Given the description of an element on the screen output the (x, y) to click on. 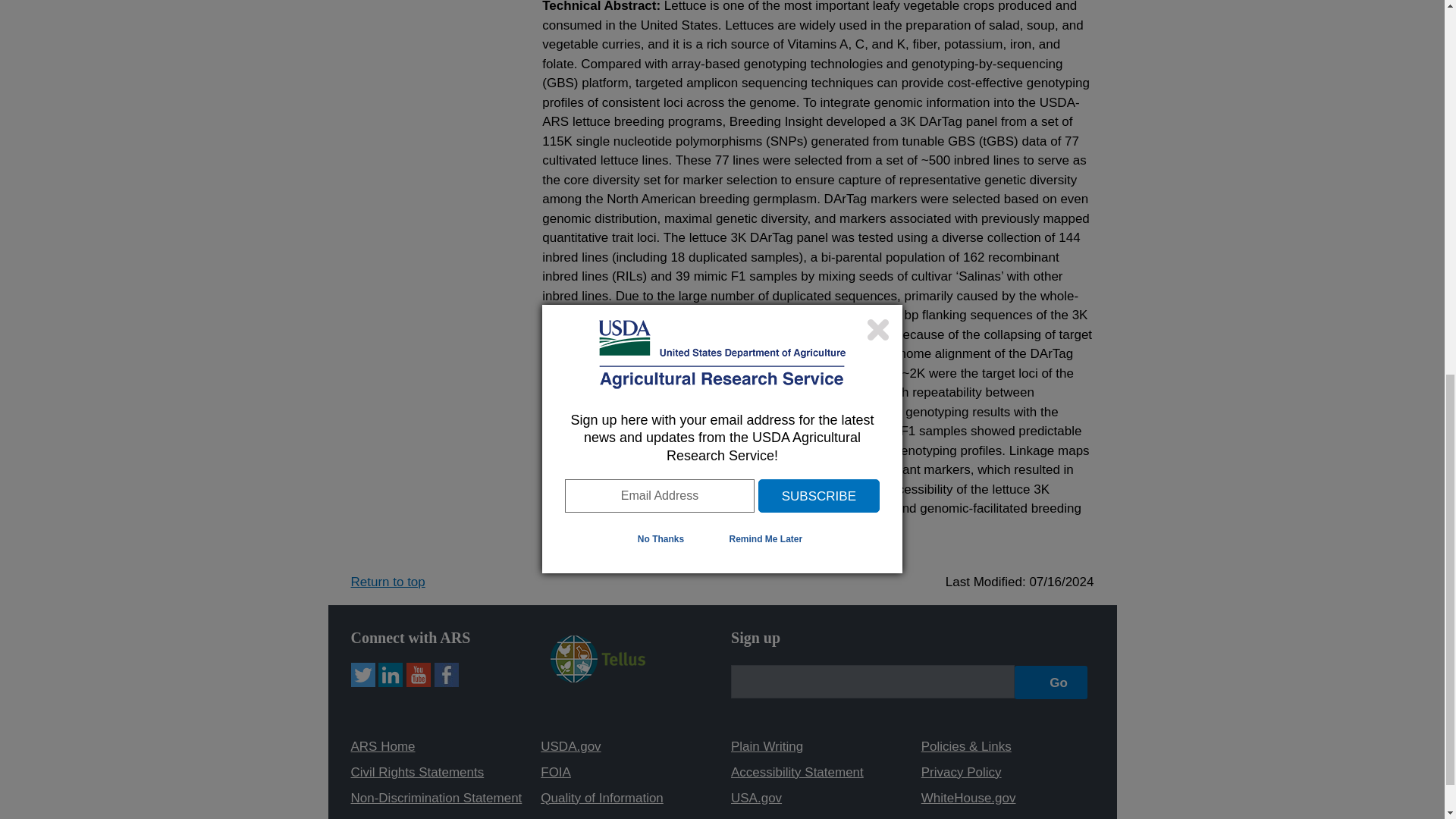
Twitter (362, 674)
LinkedIn (390, 674)
Tellus (597, 677)
Tellus (597, 658)
Facebook Icon (445, 674)
Youtube (418, 674)
email (872, 681)
Go (1050, 682)
